Given the description of an element on the screen output the (x, y) to click on. 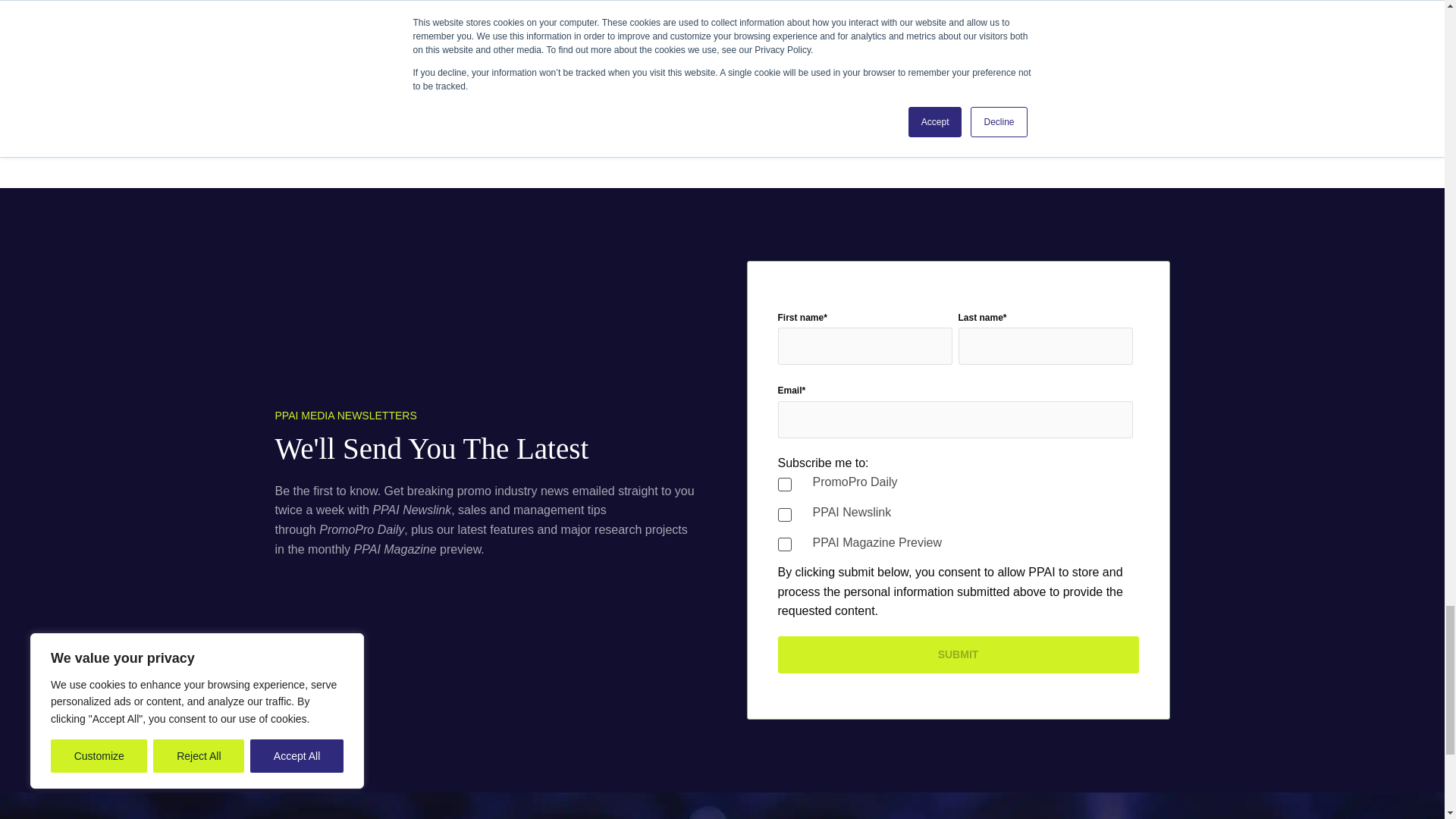
true (784, 544)
Submit (957, 654)
true (784, 484)
true (784, 514)
